Given the description of an element on the screen output the (x, y) to click on. 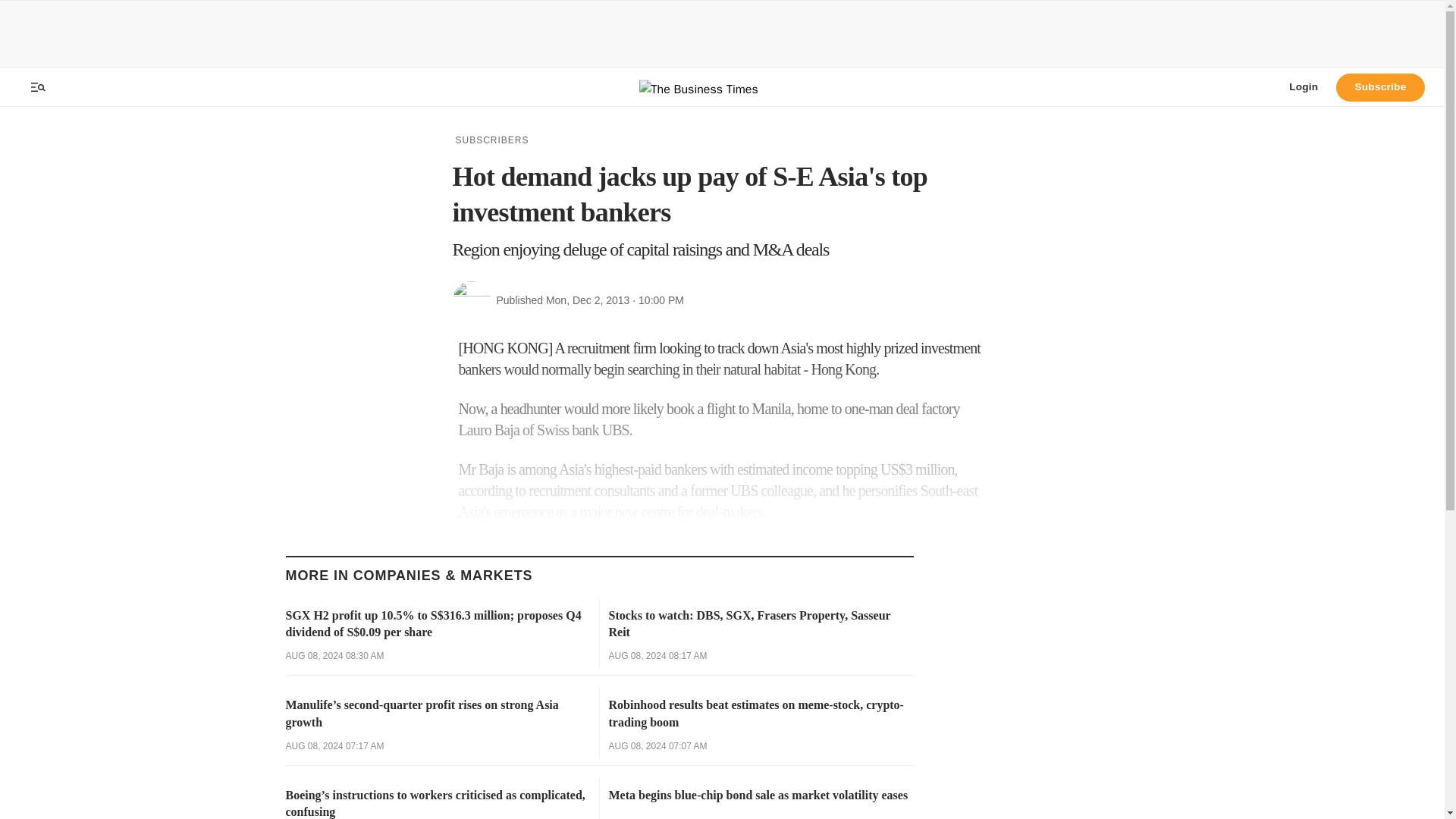
Login (1302, 86)
Subscribe (1379, 86)
The Business Times (722, 87)
Meta begins blue-chip bond sale as market volatility eases (760, 795)
Stocks to watch: DBS, SGX, Frasers Property, Sasseur Reit (760, 624)
